Given the description of an element on the screen output the (x, y) to click on. 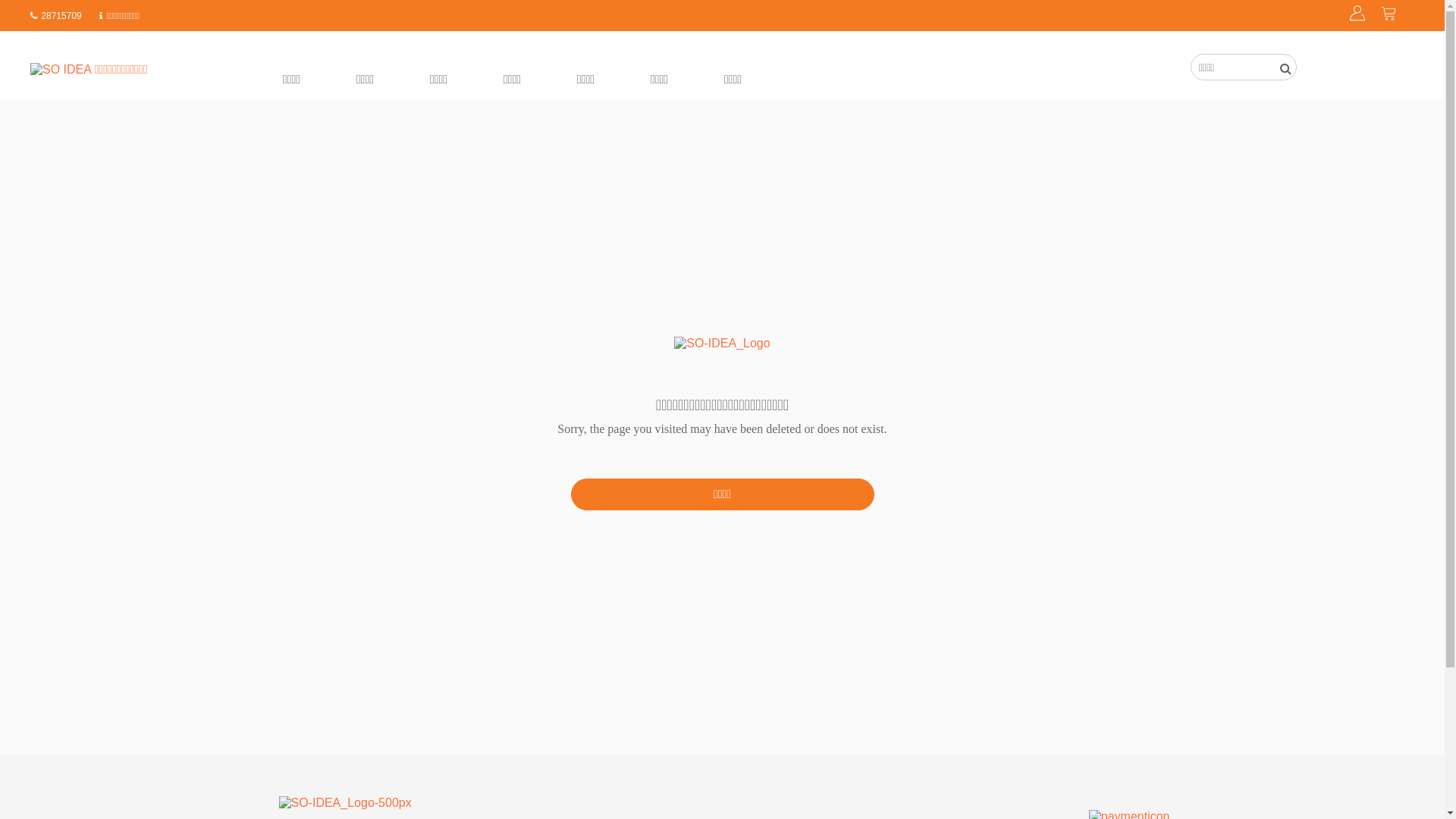
Go! Element type: text (53, 8)
